Given the description of an element on the screen output the (x, y) to click on. 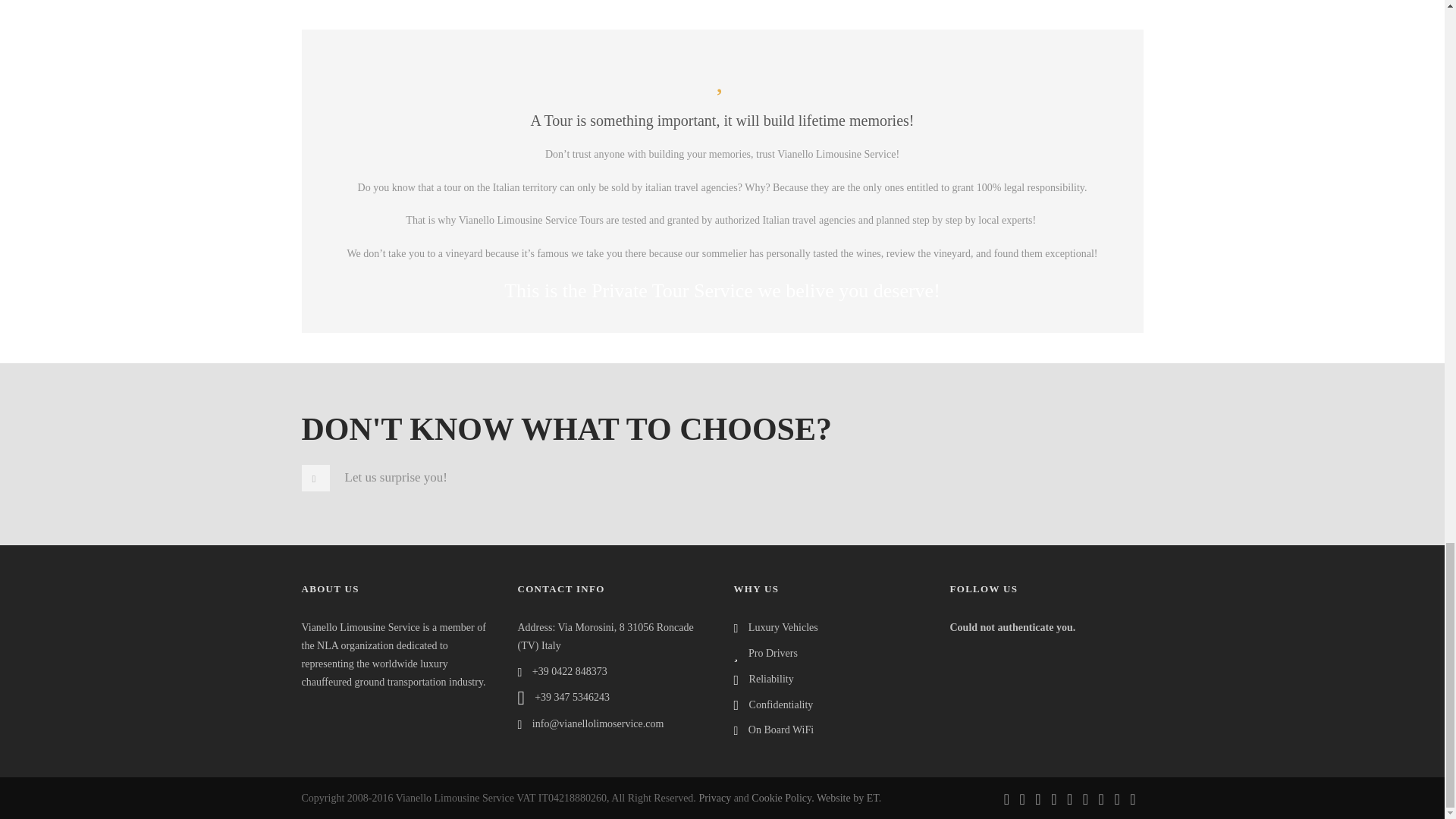
Cookie Policy. (782, 797)
Reliability (771, 678)
Confidentiality (781, 704)
Website by ET (847, 797)
On Board WiFi (780, 729)
Pro Drivers (772, 653)
Privacy (714, 797)
Luxury Vehicles (783, 627)
